Given the description of an element on the screen output the (x, y) to click on. 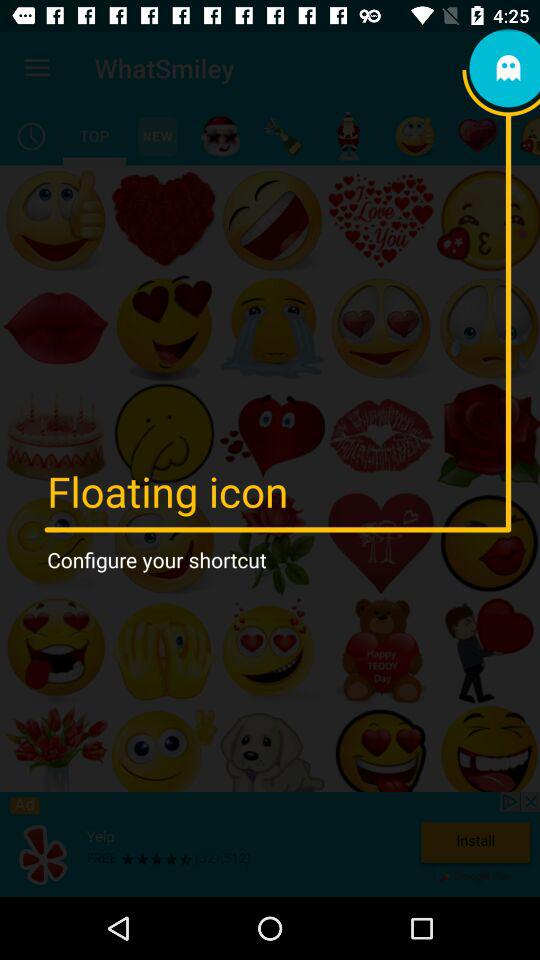
press to sort by top (94, 136)
